Given the description of an element on the screen output the (x, y) to click on. 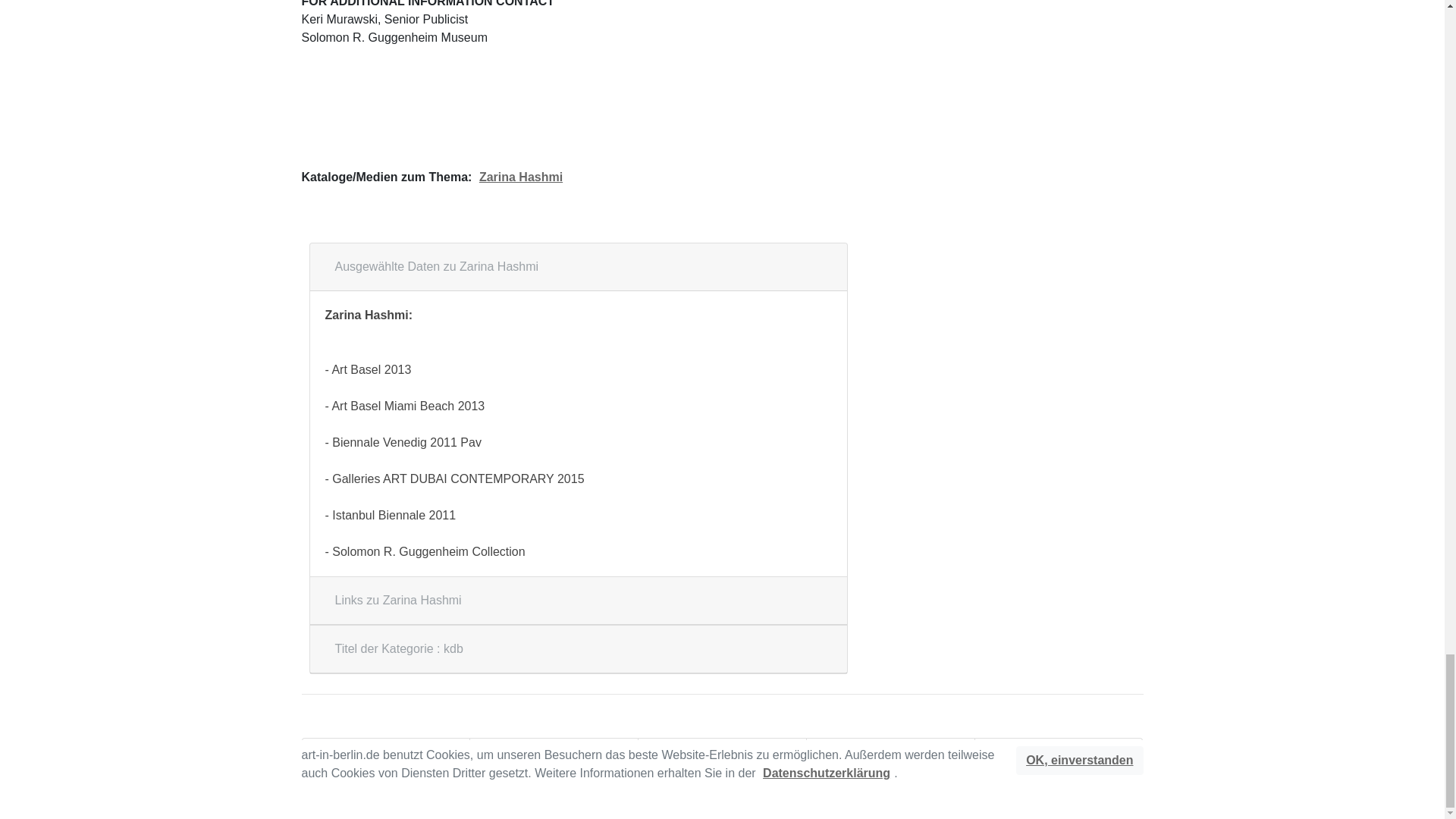
Zarina Hashmi (521, 177)
